Given the description of an element on the screen output the (x, y) to click on. 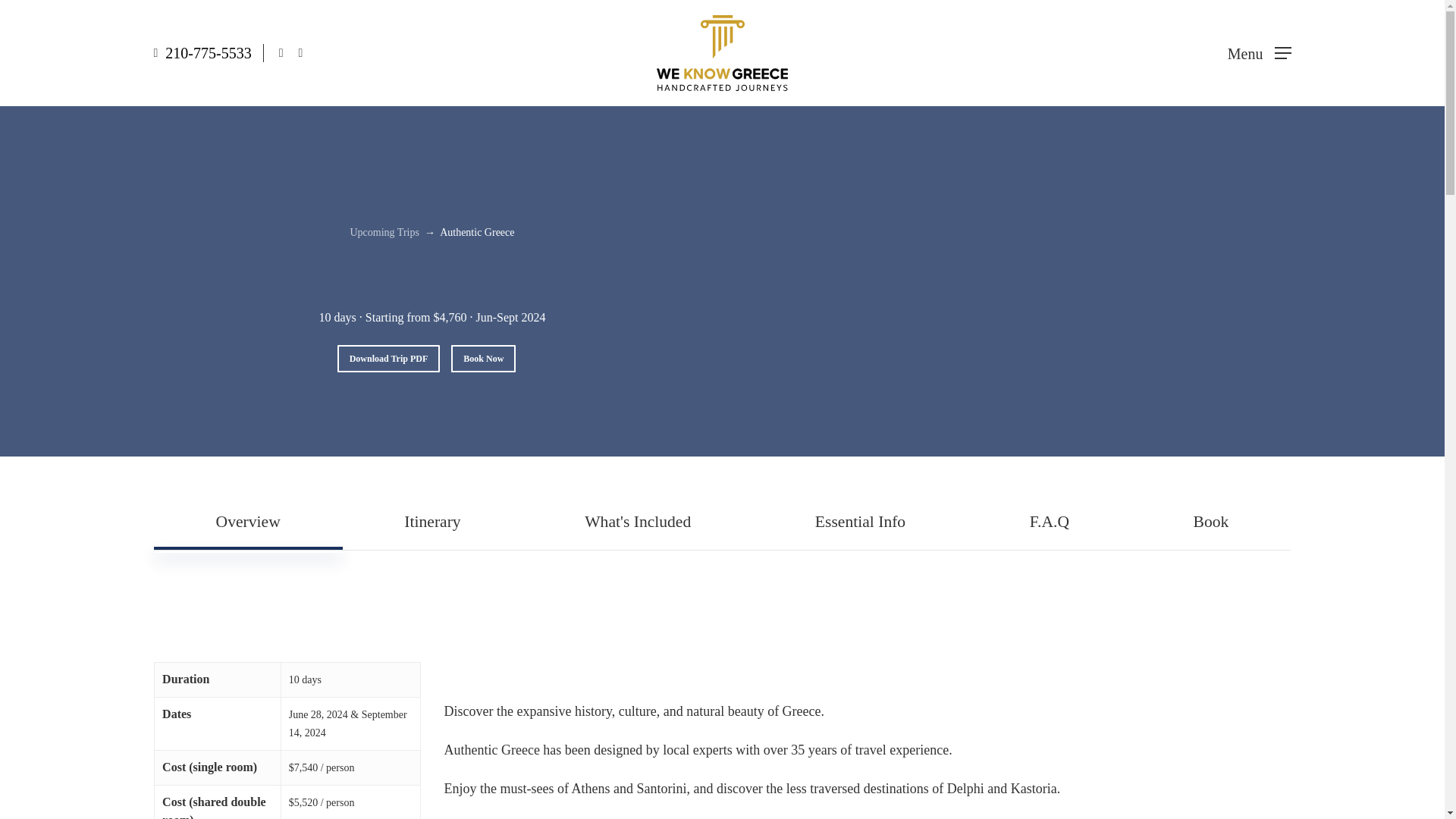
Menu (1259, 53)
210-775-5533 (207, 53)
Book (1210, 521)
Itinerary (432, 521)
What's Included (637, 521)
F.A.Q (1049, 521)
Overview (248, 521)
Essential Info (860, 521)
Book Now (483, 358)
Upcoming Trips (384, 232)
